Given the description of an element on the screen output the (x, y) to click on. 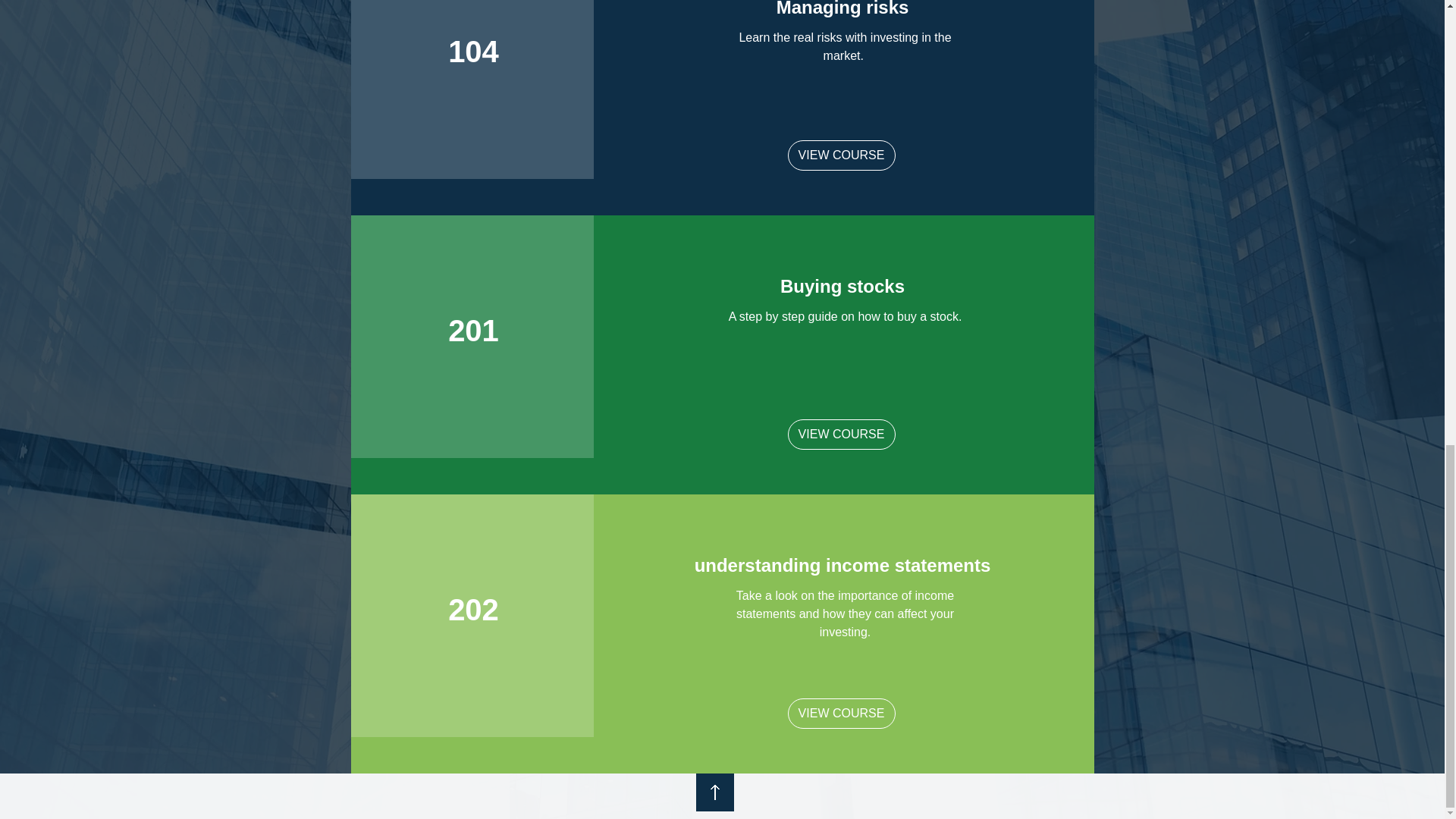
VIEW COURSE (841, 434)
VIEW COURSE (841, 155)
VIEW COURSE (841, 713)
